Given the description of an element on the screen output the (x, y) to click on. 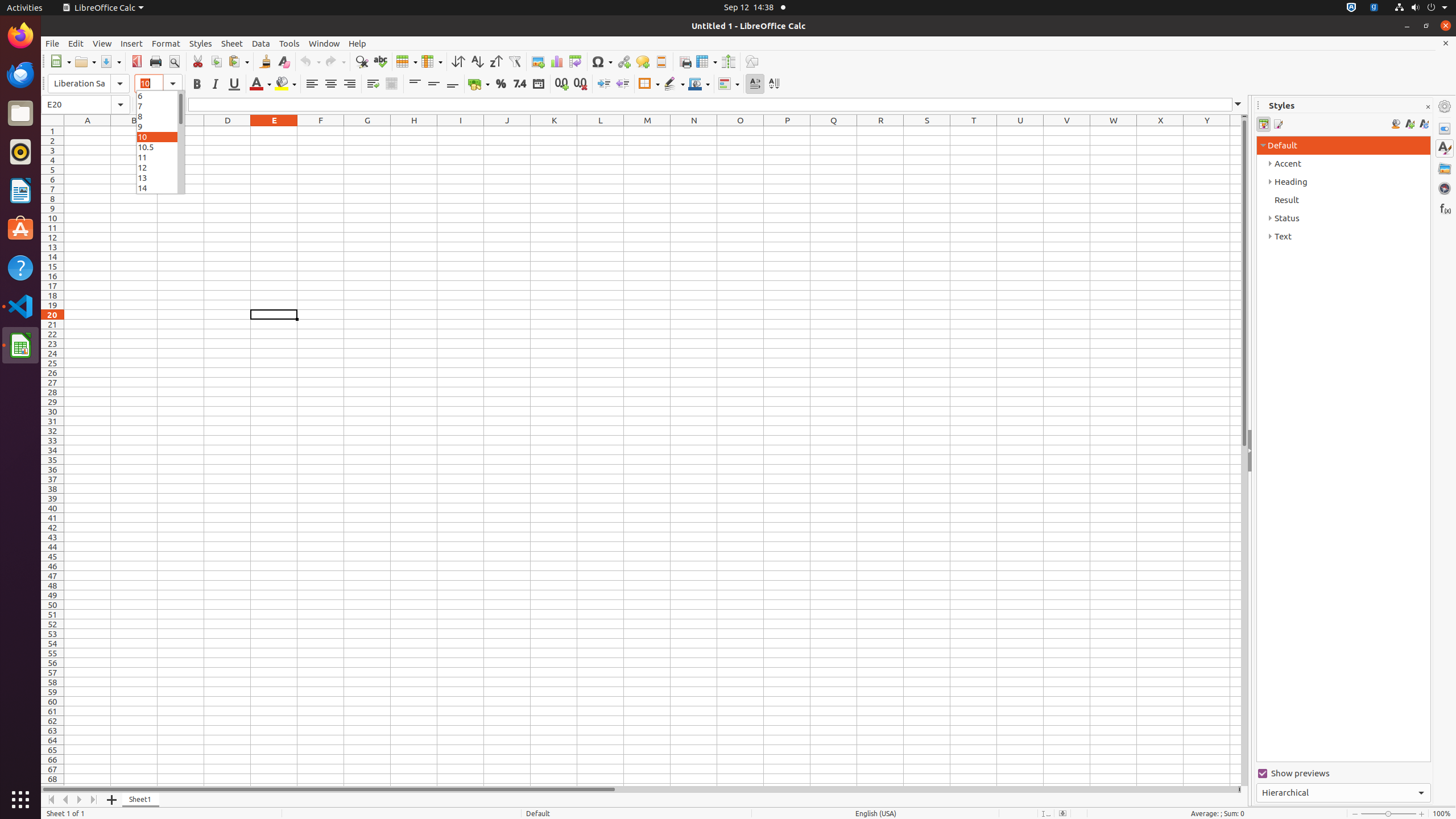
Z1 Element type: table-cell (1235, 130)
AutoFilter Element type: push-button (514, 61)
12 Element type: list-item (160, 167)
Align Bottom Element type: push-button (452, 83)
Navigator Element type: radio-button (1444, 188)
